Given the description of an element on the screen output the (x, y) to click on. 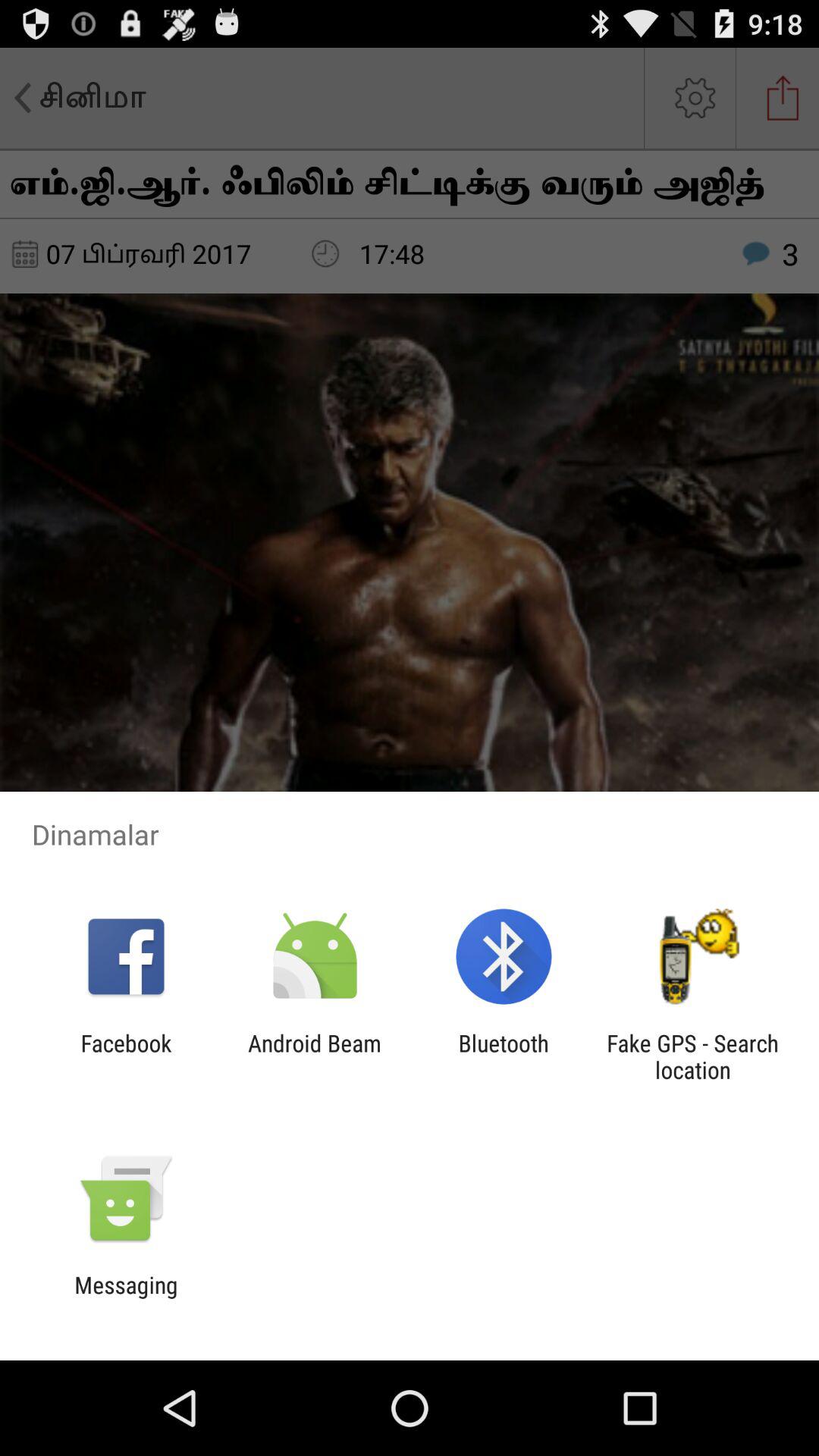
scroll until facebook icon (125, 1056)
